Given the description of an element on the screen output the (x, y) to click on. 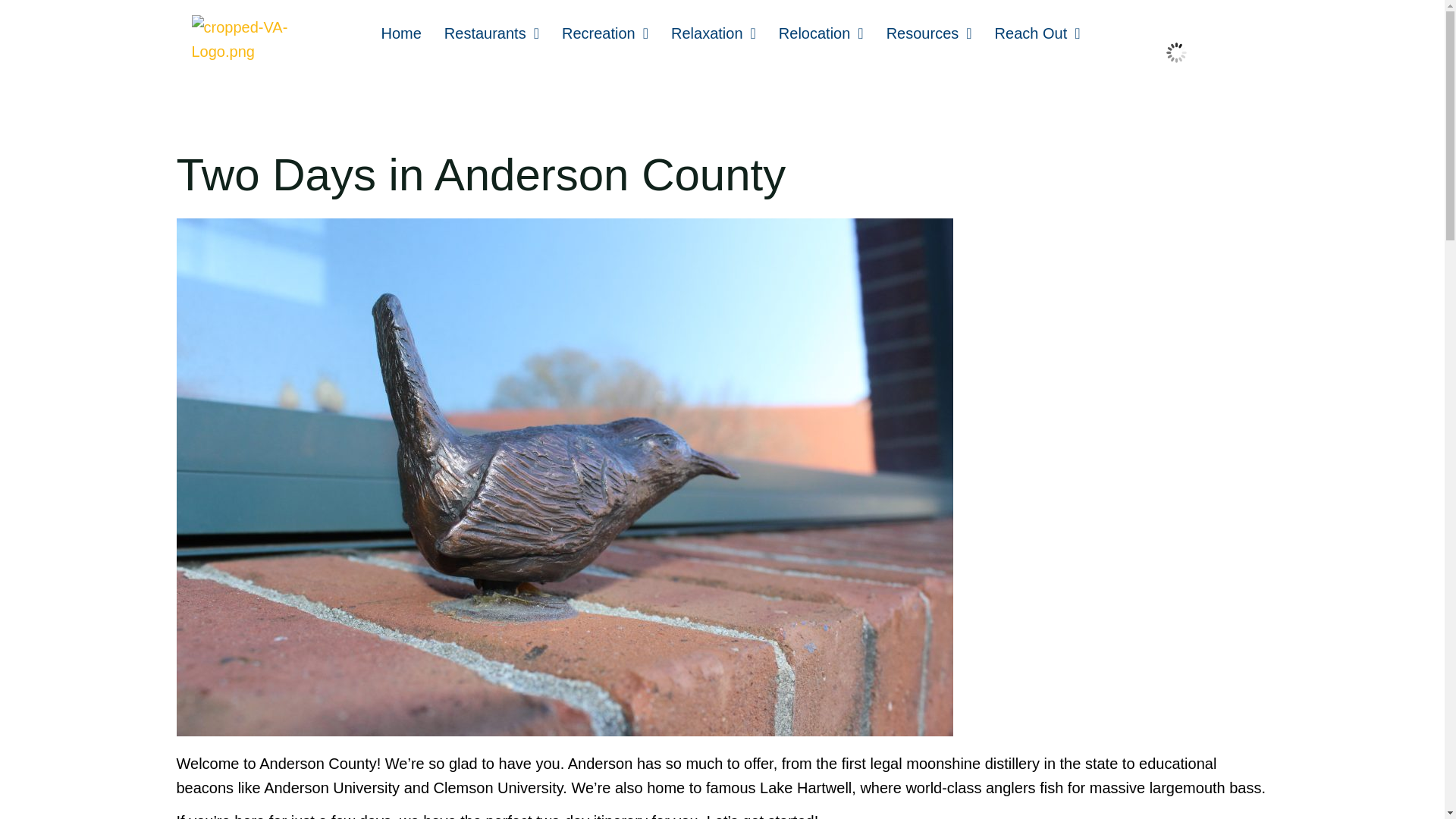
Home (400, 33)
Relocation (821, 33)
Restaurants (491, 33)
Relaxation (713, 33)
Recreation (604, 33)
Resources (929, 33)
cropped-VA-Logo.png (263, 39)
Reach Out (1038, 33)
